Given the description of an element on the screen output the (x, y) to click on. 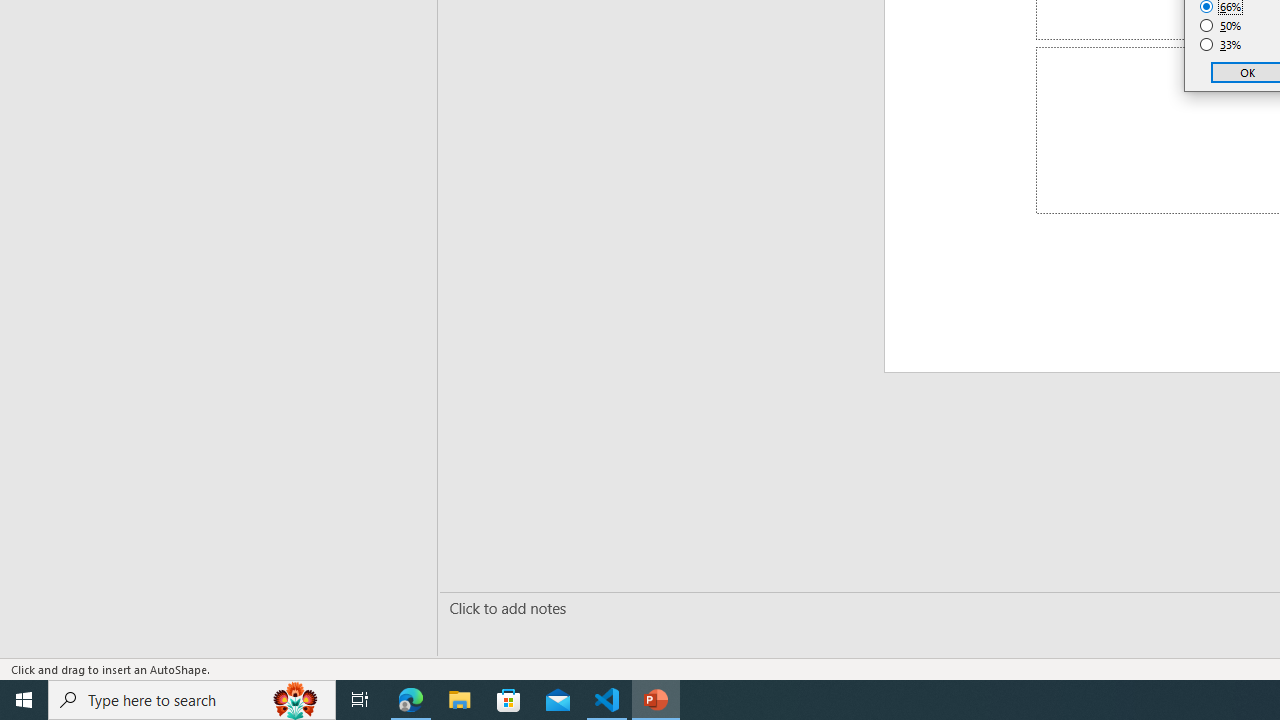
33% (1221, 44)
50% (1221, 25)
